Given the description of an element on the screen output the (x, y) to click on. 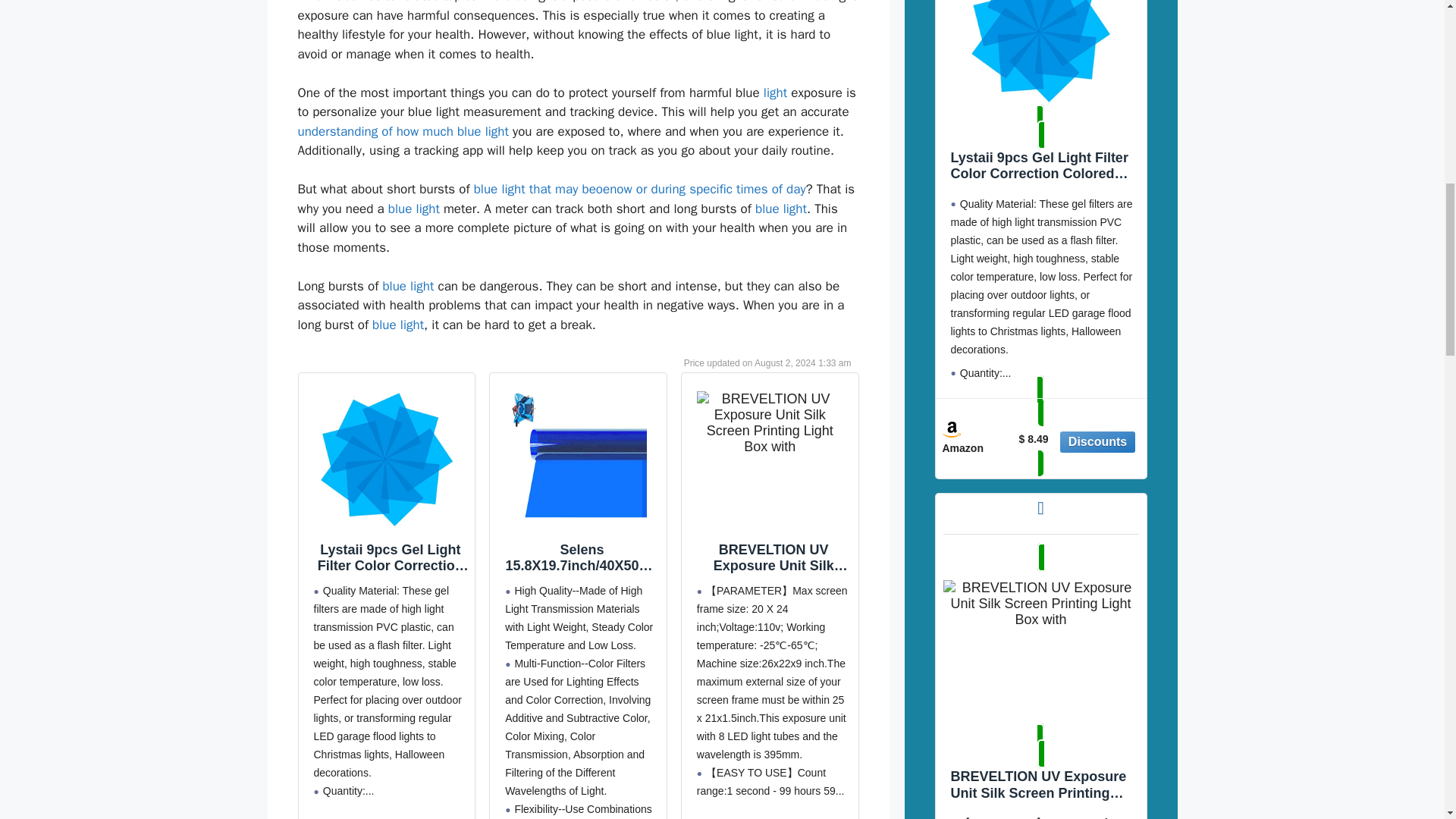
understanding of how much blue light (402, 131)
blue light (413, 208)
blue light (407, 286)
blue light (397, 324)
light (774, 92)
blue light that may beoenow or during specific times of day (640, 188)
blue light (780, 208)
